Given the description of an element on the screen output the (x, y) to click on. 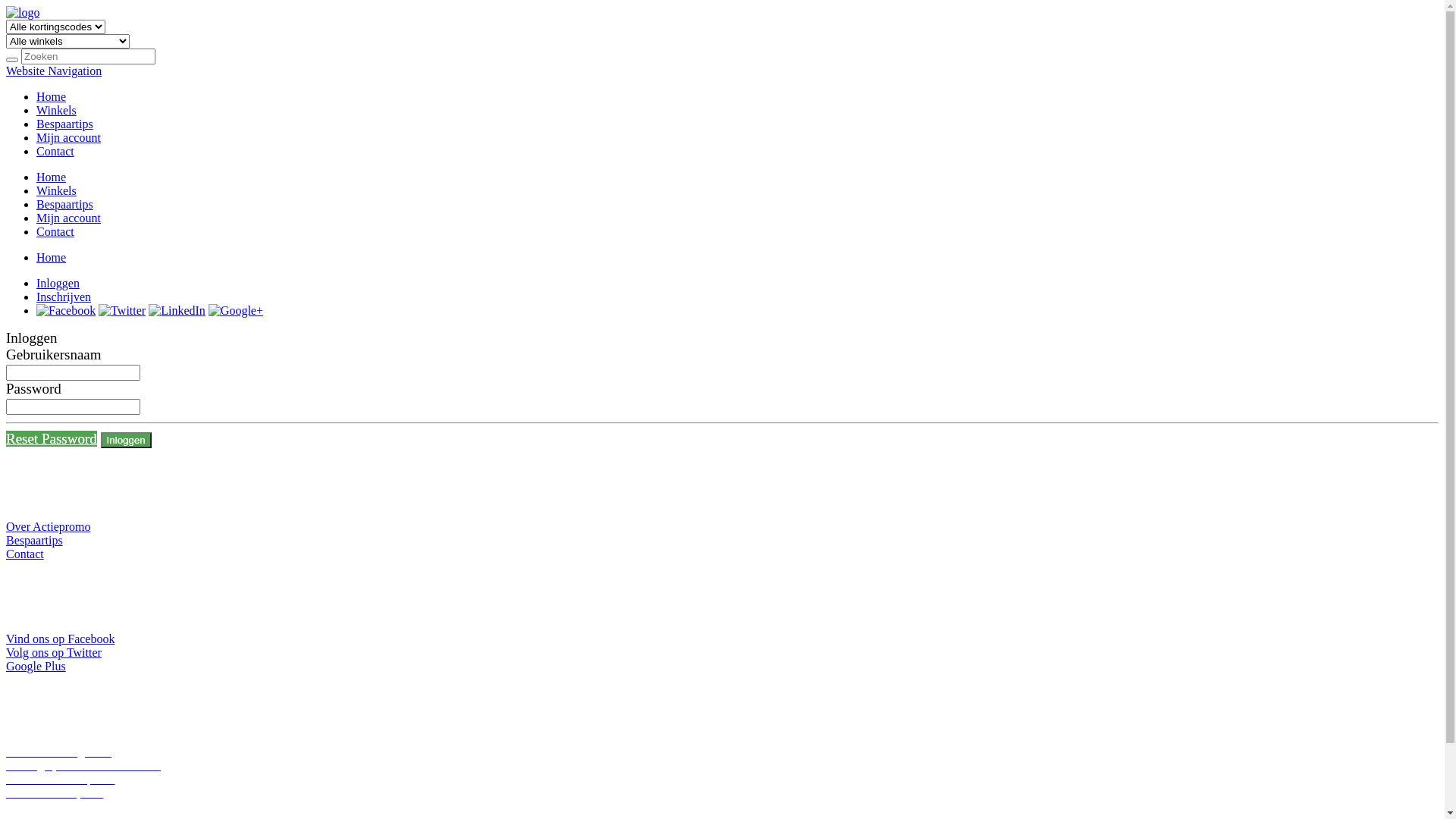
Actiepromo.be Element type: hover (22, 12)
Contact Element type: text (55, 150)
Volg ons op Twitter Element type: text (53, 652)
Reset Password Element type: text (51, 438)
Mijn account Element type: text (68, 137)
Contact Element type: text (24, 553)
Actiecode Sunparks Element type: text (54, 792)
Over Actiepromo Element type: text (48, 526)
Website Navigation Element type: text (53, 70)
Home Element type: text (50, 96)
Zalando kortingscode Element type: text (58, 751)
Inloggen Element type: text (57, 282)
Bespaartips Element type: text (34, 539)
Contact Element type: text (55, 231)
Bespaartips Element type: text (64, 123)
Google Plus Element type: text (35, 665)
Vind ons op Facebook Element type: text (60, 638)
Inloggen Element type: text (125, 440)
Bespaartips Element type: text (64, 203)
Home Element type: text (50, 257)
Winkels Element type: text (56, 190)
Inschrijven Element type: text (63, 296)
Home Element type: text (50, 176)
Korting op Neckermann Reizen Element type: text (83, 765)
Winkels Element type: text (56, 109)
Mijn account Element type: text (68, 217)
Actiecode Smartphoto Element type: text (60, 778)
